Given the description of an element on the screen output the (x, y) to click on. 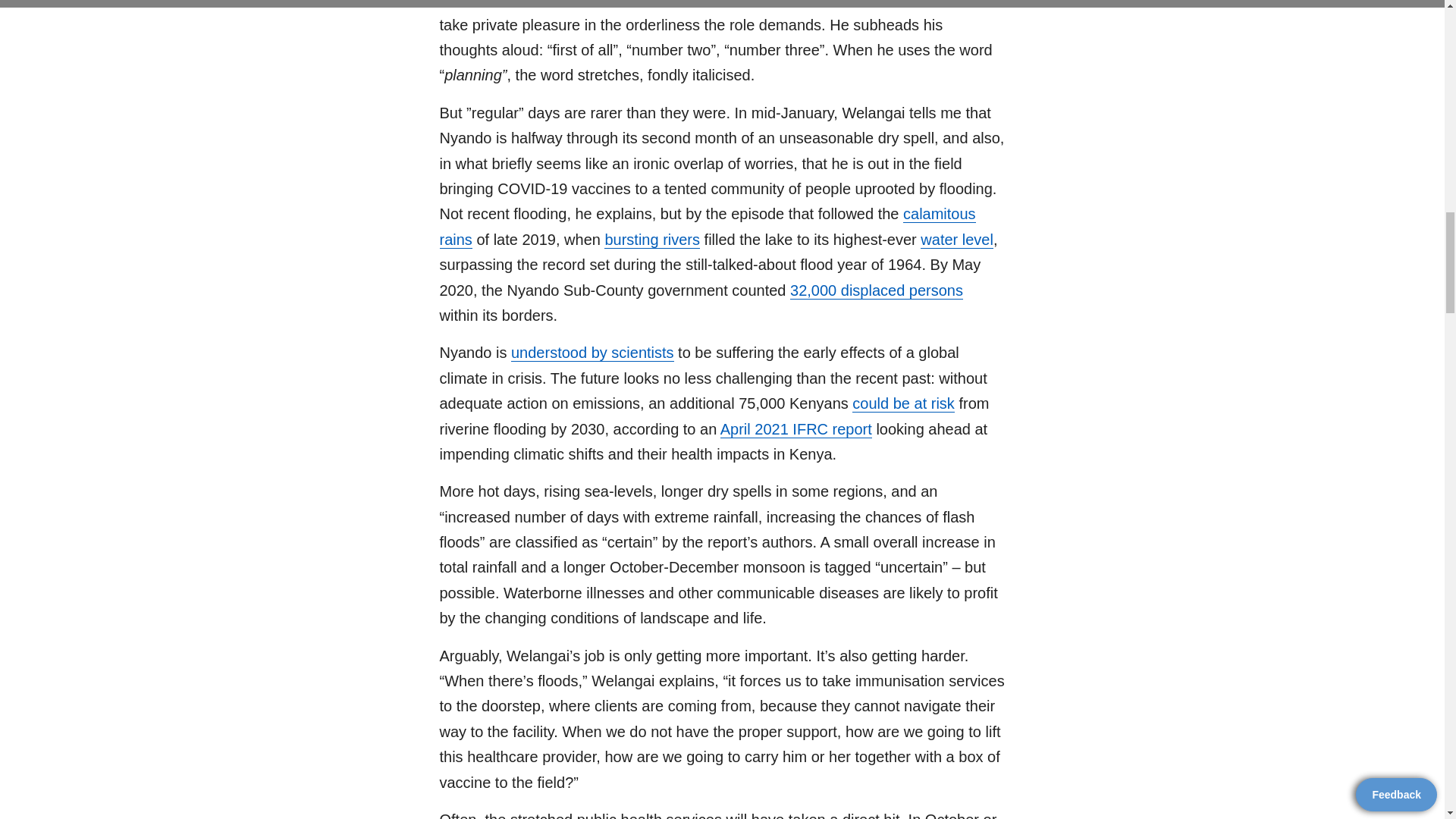
calamitous rains (707, 226)
could be at risk (903, 403)
understood by scientists (592, 352)
32,000 displaced persons (876, 290)
bursting rivers (652, 239)
water level (956, 239)
